Given the description of an element on the screen output the (x, y) to click on. 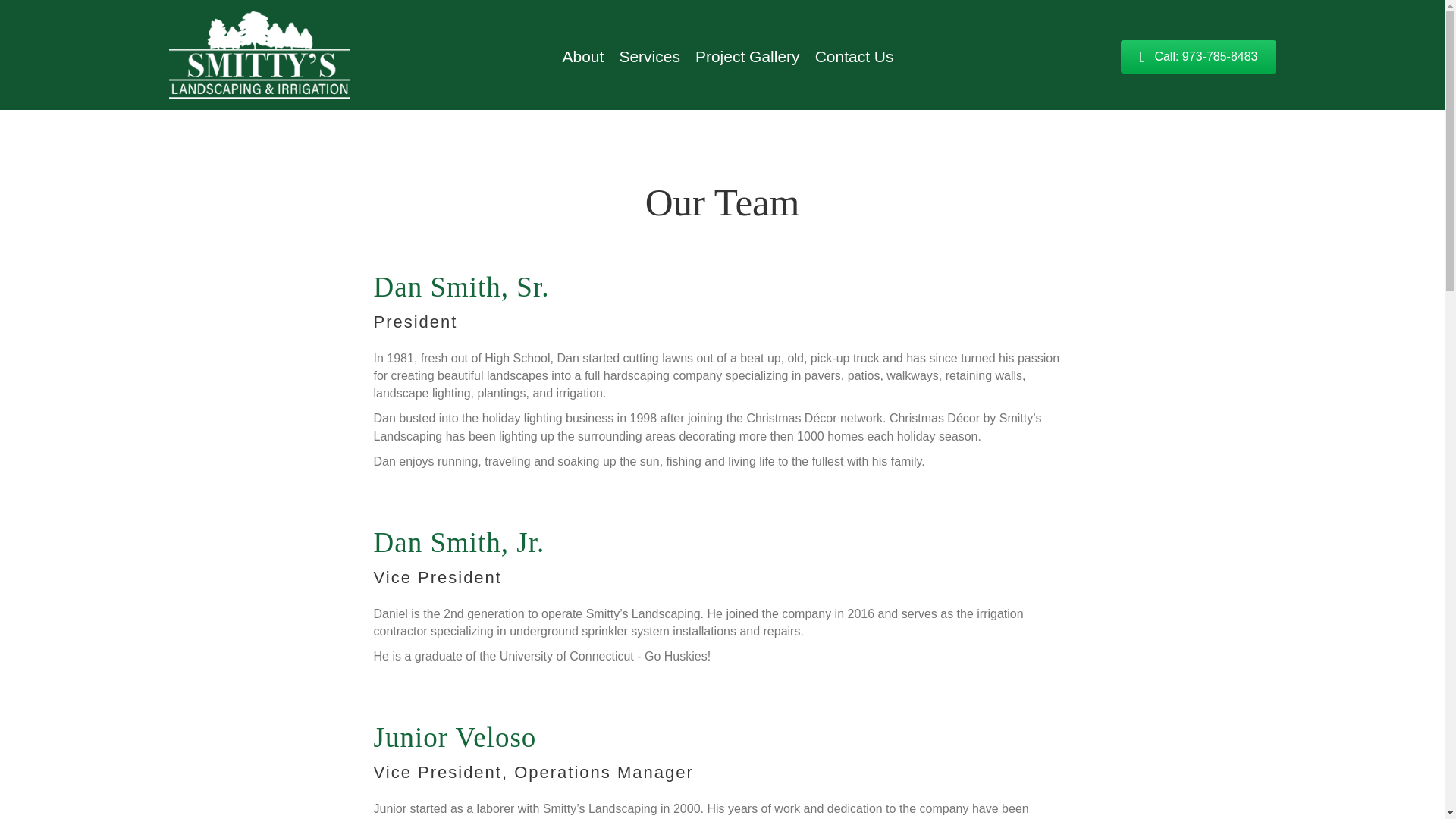
Call: 973-785-8483 (1198, 57)
Contact Us (854, 56)
Project Gallery (747, 56)
Smittys-logo-revamp-small-white 280 (259, 54)
Services (649, 56)
About (582, 56)
